Given the description of an element on the screen output the (x, y) to click on. 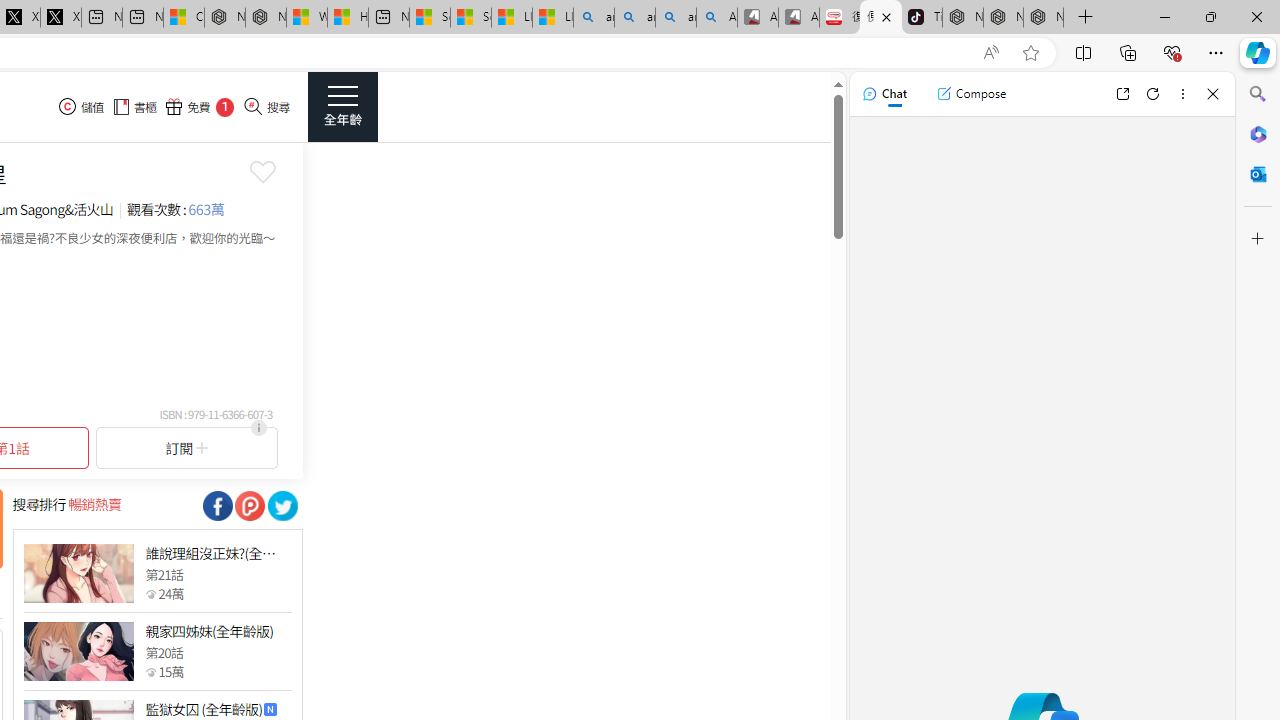
Class: epicon_starpoint (150, 671)
All Cubot phones (799, 17)
Open link in new tab (1122, 93)
Microsoft 365 (1258, 133)
Refresh (1153, 93)
Amazon Echo Robot - Search Images (717, 17)
amazon - Search Images (675, 17)
Restore (1210, 16)
amazon - Search (634, 17)
